Given the description of an element on the screen output the (x, y) to click on. 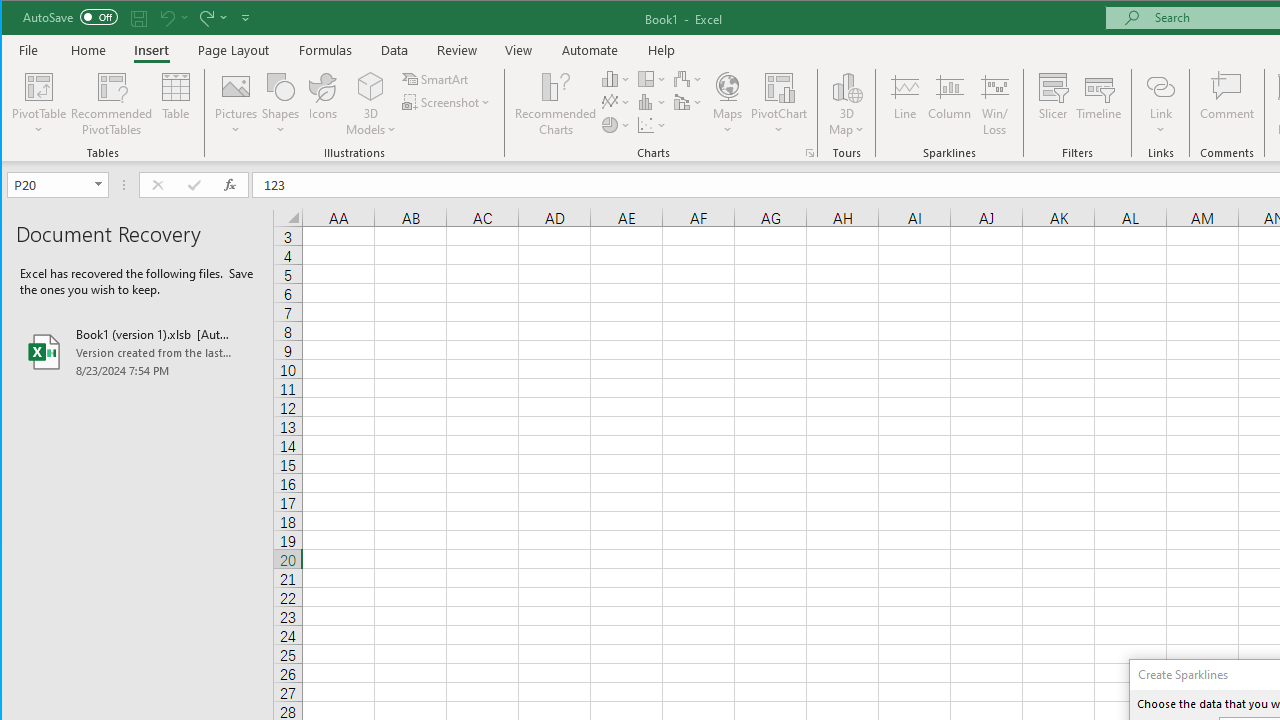
PivotTable (39, 104)
PivotChart (779, 104)
Insert Line or Area Chart (616, 101)
Recommended Charts (809, 152)
Icons (323, 104)
3D Models (371, 104)
Insert Scatter (X, Y) or Bubble Chart (652, 124)
3D Map (846, 104)
